Given the description of an element on the screen output the (x, y) to click on. 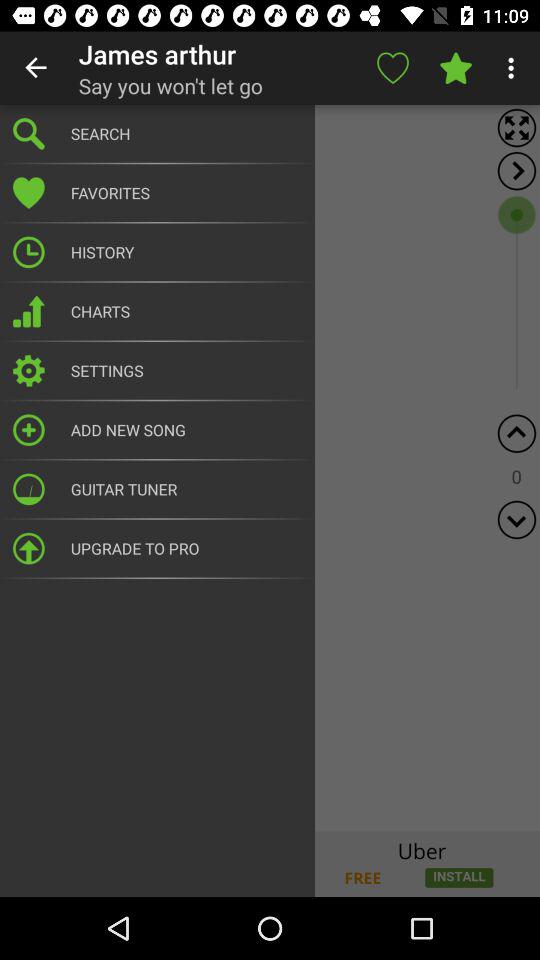
full screen mode (516, 127)
